Given the description of an element on the screen output the (x, y) to click on. 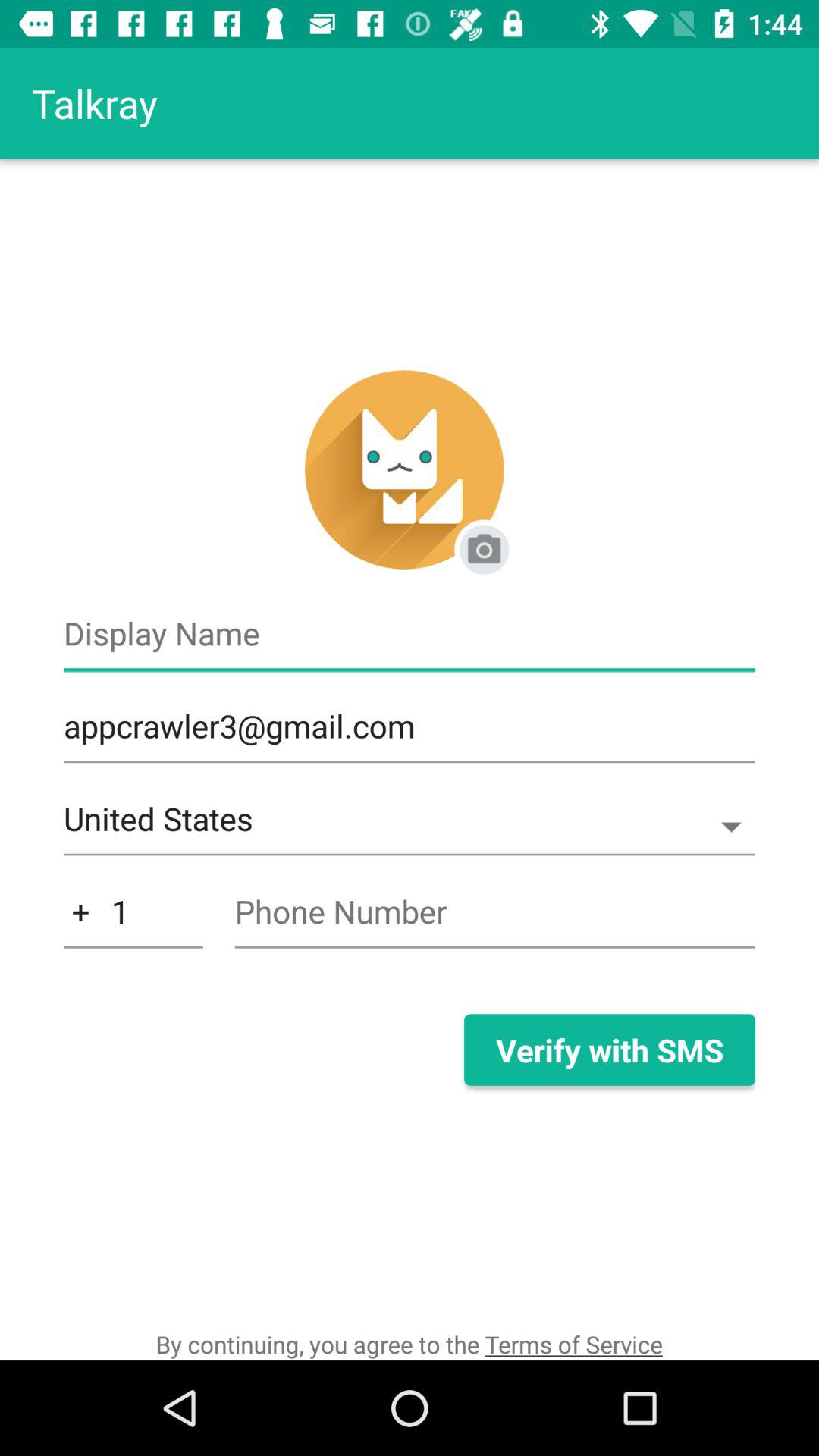
scroll until by continuing you (408, 1344)
